Given the description of an element on the screen output the (x, y) to click on. 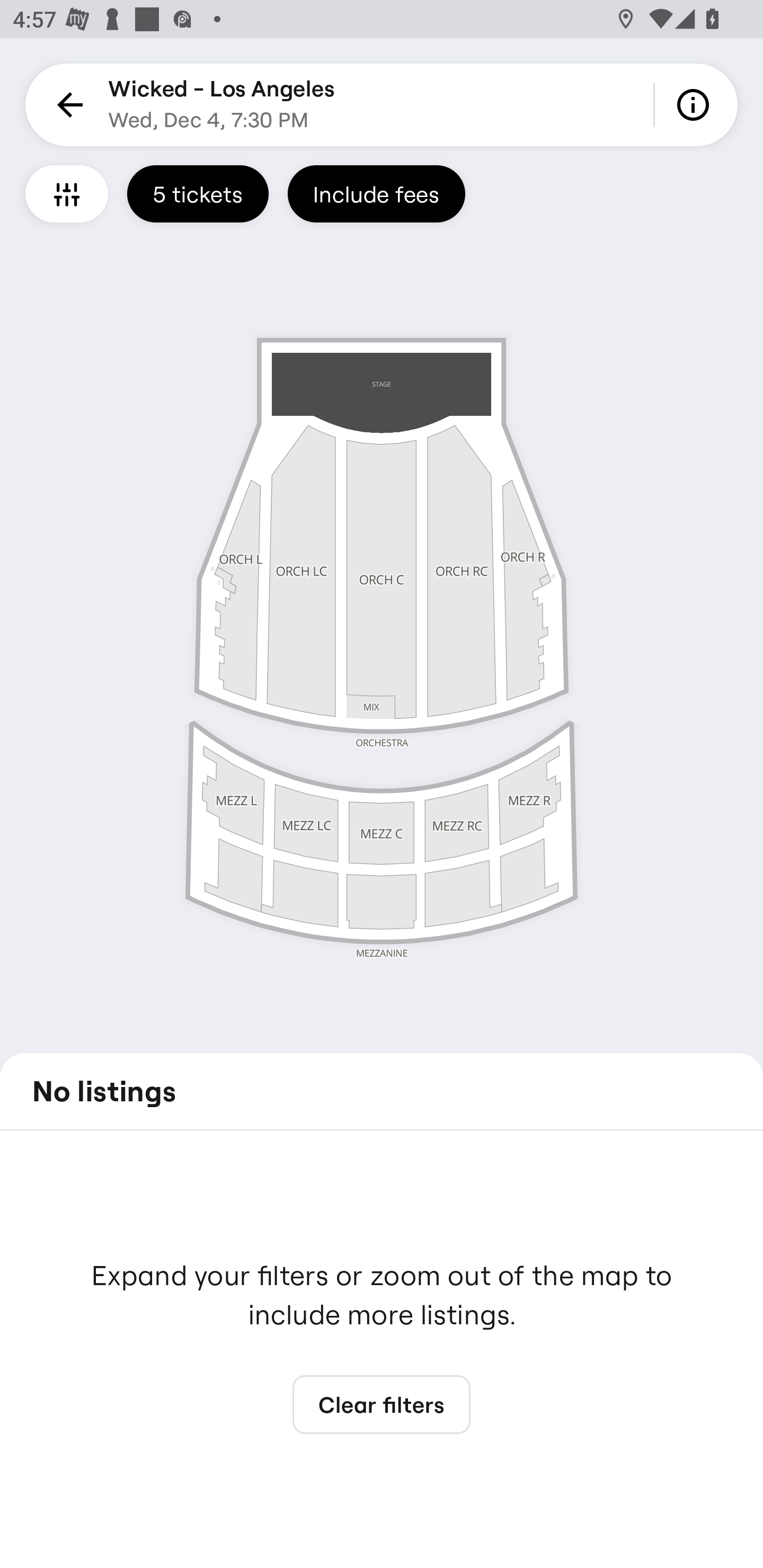
Back Wicked - Los Angeles Wed, Dec 4, 7:30 PM Info (381, 104)
Back (66, 104)
Wicked - Los Angeles Wed, Dec 4, 7:30 PM (221, 104)
Info (695, 104)
Filters and Accessible Seating (66, 193)
5 tickets (197, 193)
Include fees (376, 193)
Clear filters (381, 1404)
